Given the description of an element on the screen output the (x, y) to click on. 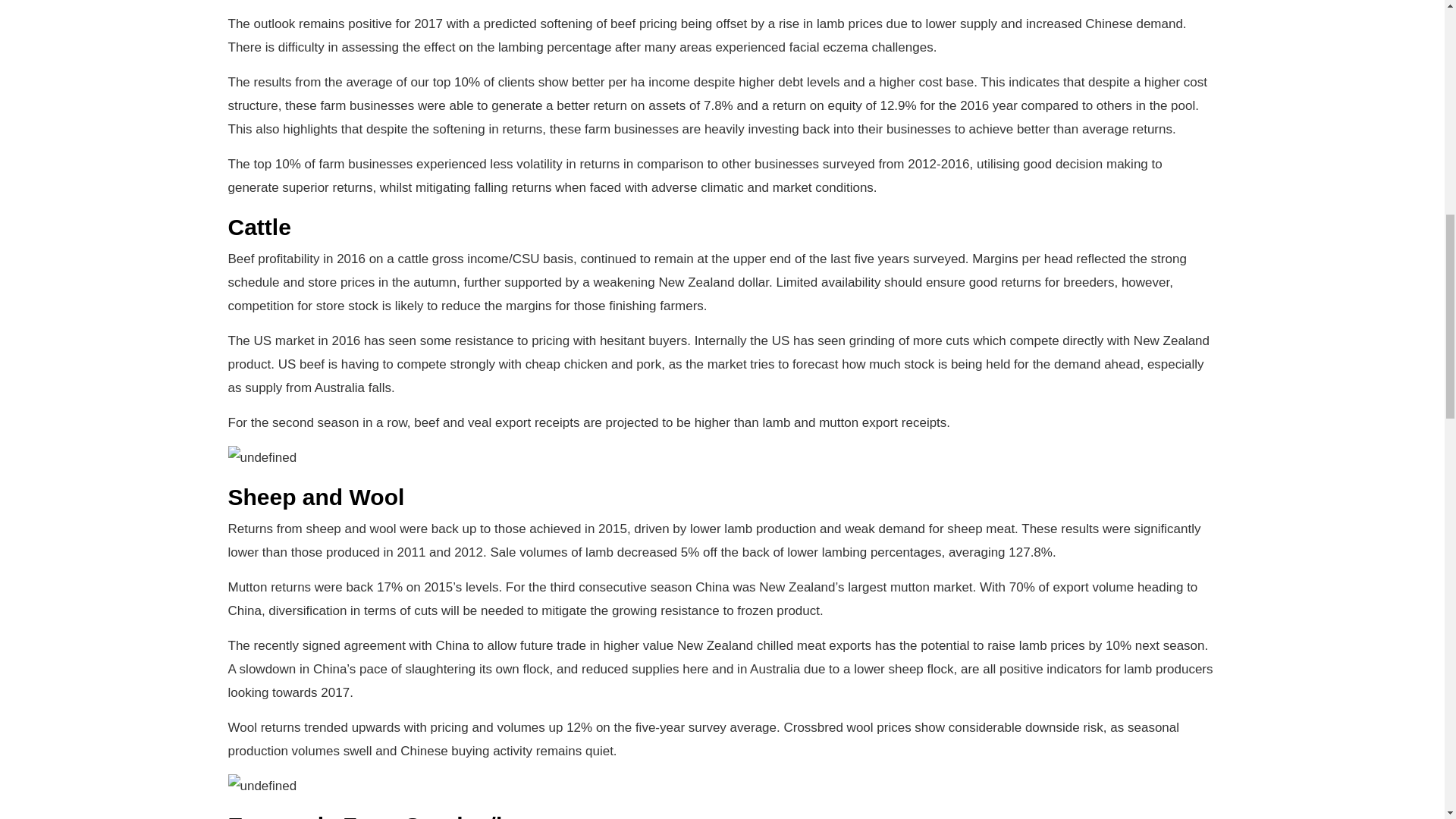
undefined (262, 785)
undefined (262, 457)
